Given the description of an element on the screen output the (x, y) to click on. 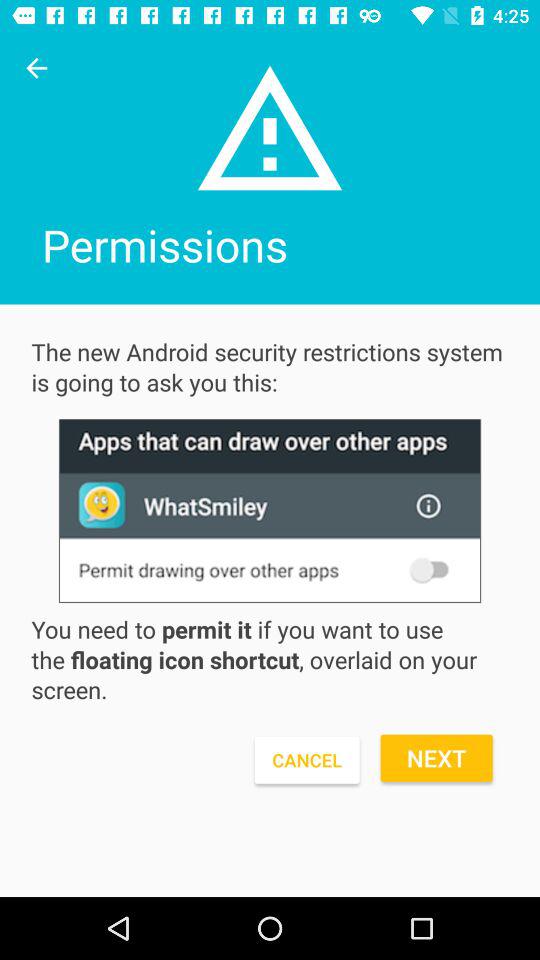
going back to the previous page (36, 68)
